Given the description of an element on the screen output the (x, y) to click on. 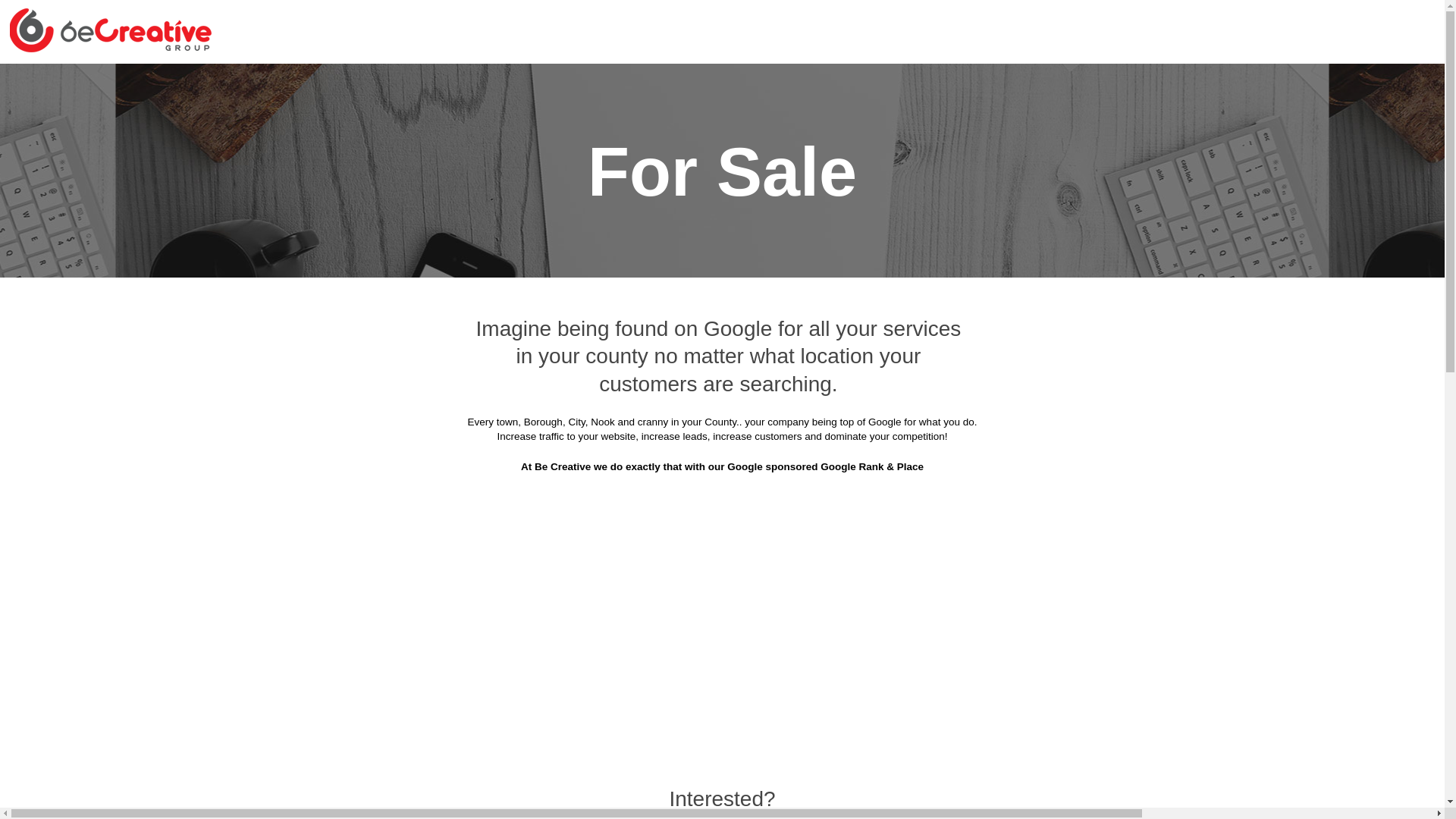
Aggregate Suppliers Ashburton Devon (855, 83)
Aggregate Suppliers Ilfracombe Devon (625, 383)
Aggregate Suppliers Dartmouth Devon (443, 271)
Aggregate Suppliers Helston Cornwall (850, 346)
Aggregate Suppliers Great Torrington Devon (1062, 309)
Aggregate Suppliers Bideford Devon (617, 121)
Aggregate Suppliers Callington Cornwall (834, 196)
Aggregate Suppliers Hayle Cornwall (631, 346)
Aggregate Suppliers Exeter Devon (870, 271)
Aggregate Suppliers Exmouth Devon (1083, 271)
Aggregate Suppliers Chudleigh Devon (622, 234)
Aggregate Suppliers Bude Cornwall (1086, 158)
Aggregate Suppliers Devon (660, 83)
Aggregate Suppliers Budleigh Salterton Devon (582, 196)
Aggregate Suppliers Bodmin Cornwall (837, 121)
